Given the description of an element on the screen output the (x, y) to click on. 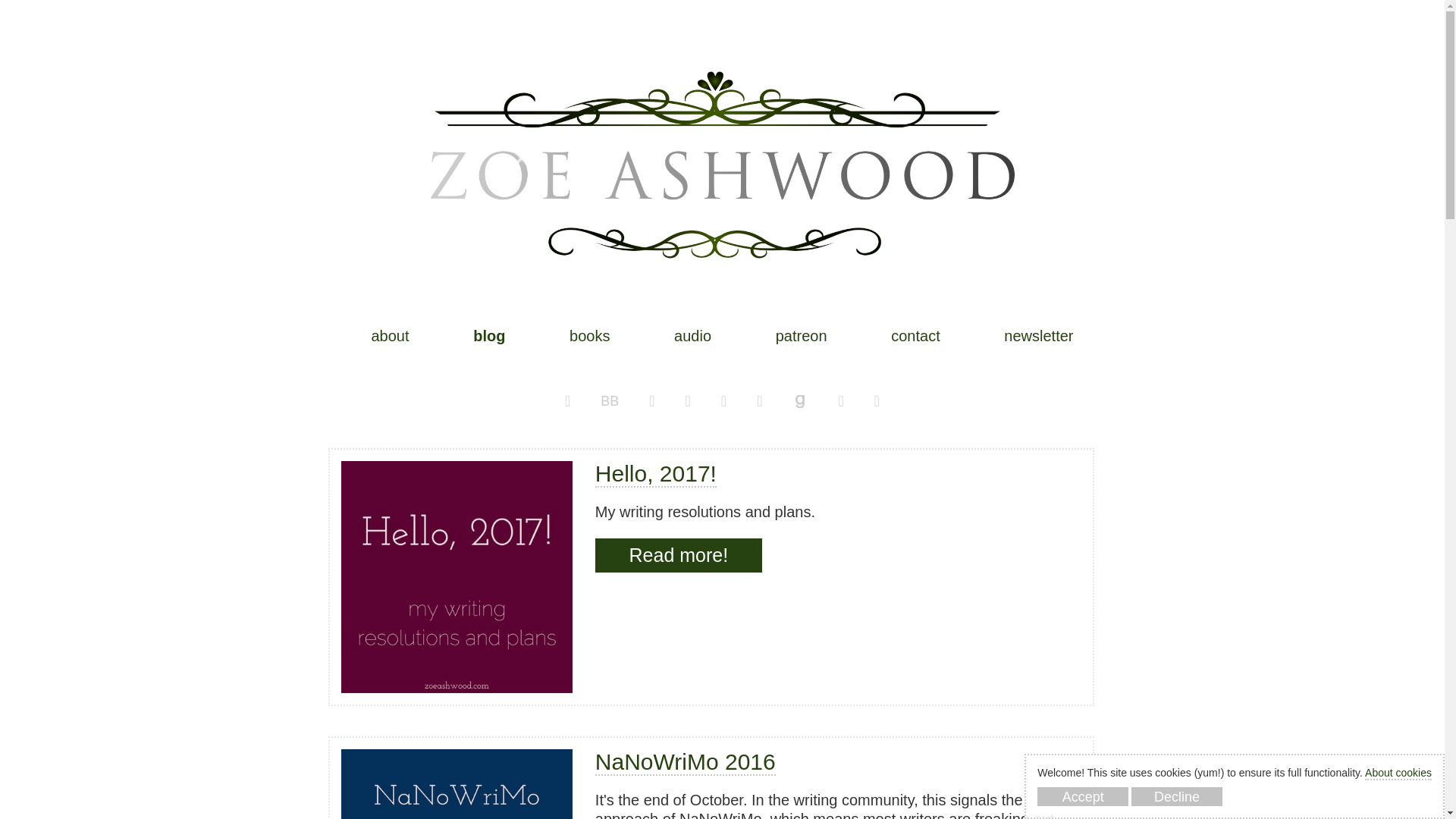
newsletter (1038, 336)
about (390, 336)
audio (692, 336)
contact (915, 336)
books (589, 336)
blog (489, 336)
patreon (801, 336)
